Given the description of an element on the screen output the (x, y) to click on. 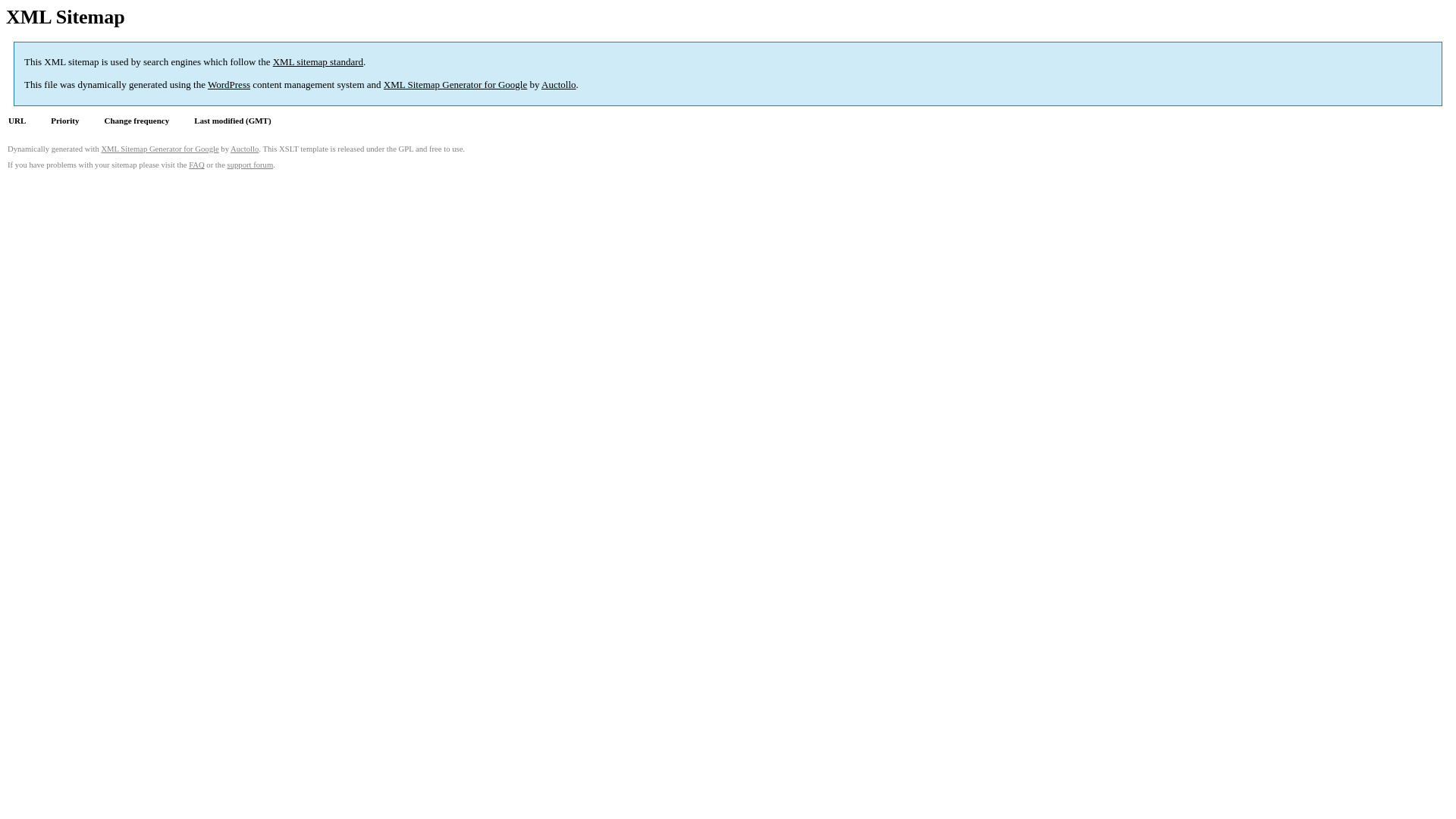
Auctollo Element type: text (244, 148)
Auctollo Element type: text (558, 84)
FAQ Element type: text (196, 164)
XML sitemap standard Element type: text (318, 61)
WordPress Element type: text (228, 84)
XML Sitemap Generator for Google Element type: text (455, 84)
support forum Element type: text (250, 164)
XML Sitemap Generator for Google Element type: text (159, 148)
